Given the description of an element on the screen output the (x, y) to click on. 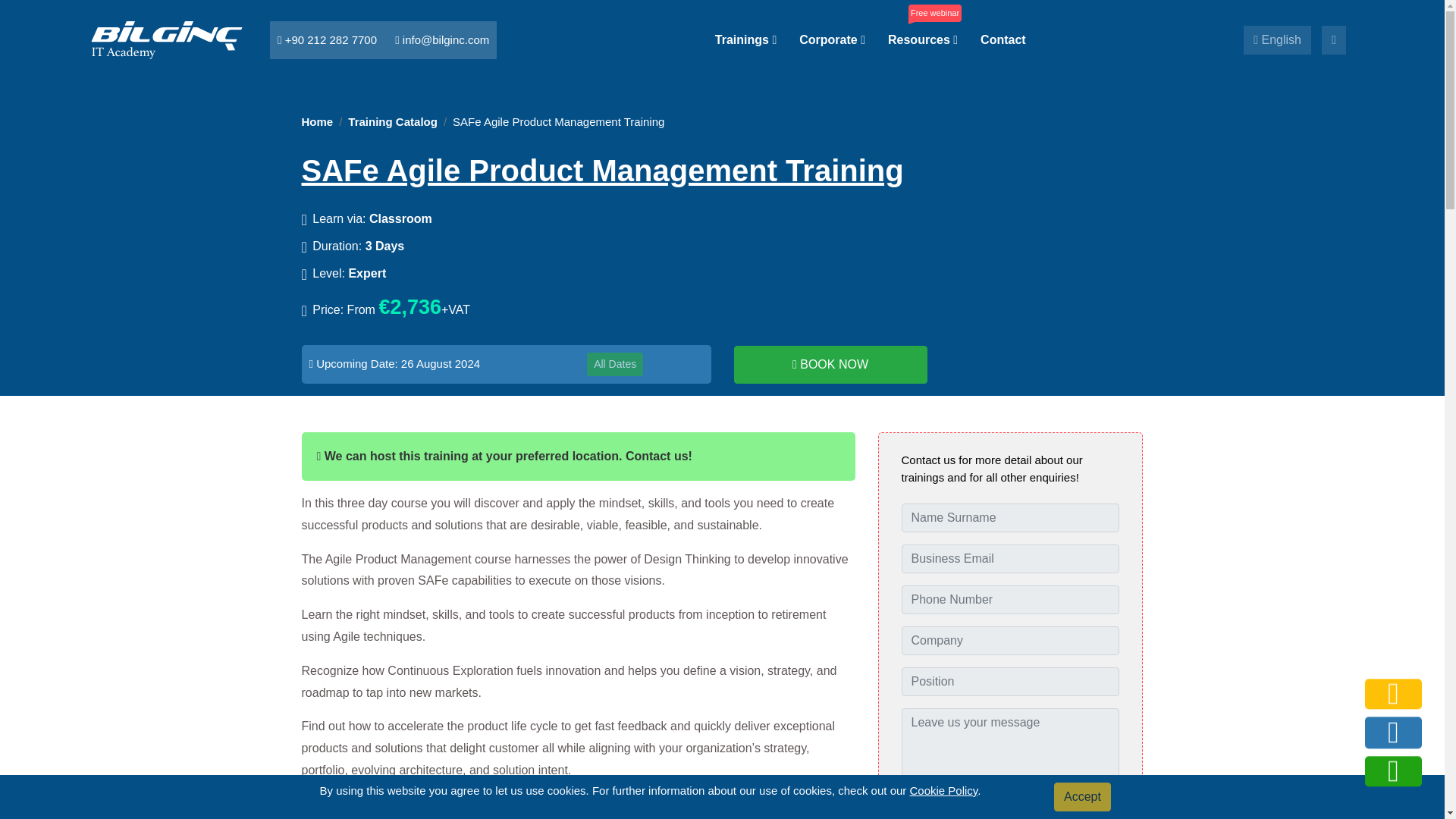
Trainings (745, 40)
Corporate (831, 40)
Resources (923, 40)
